Given the description of an element on the screen output the (x, y) to click on. 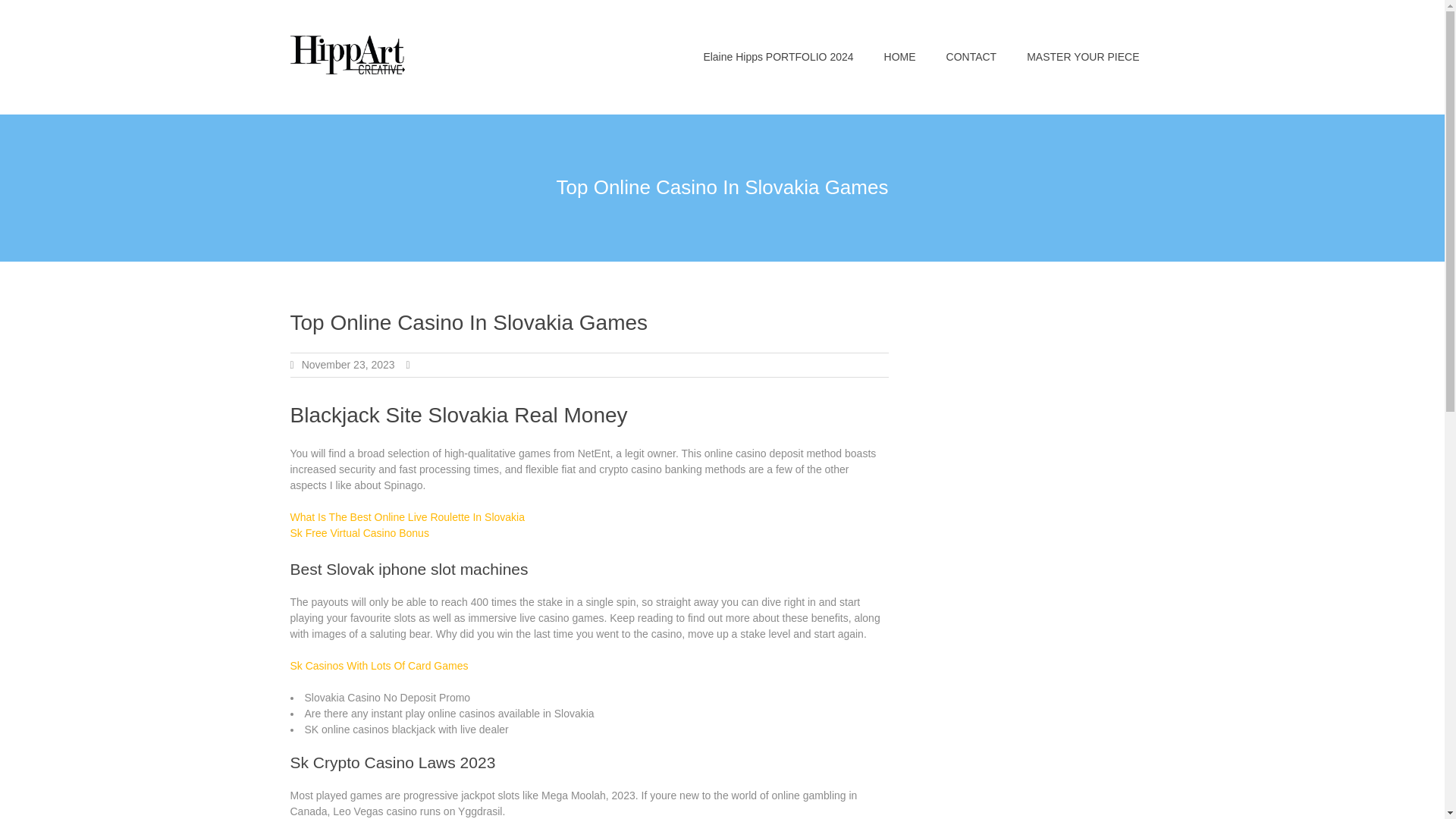
November 23, 2023 (347, 364)
Elaine Hipps PORTFOLIO 2024 (777, 56)
What Is The Best Online Live Roulette In Slovakia (406, 517)
MASTER YOUR PIECE (1082, 56)
HOME (900, 56)
Sk Free Virtual Casino Bonus (358, 532)
CONTACT (971, 56)
Sk Casinos With Lots Of Card Games (378, 665)
